Given the description of an element on the screen output the (x, y) to click on. 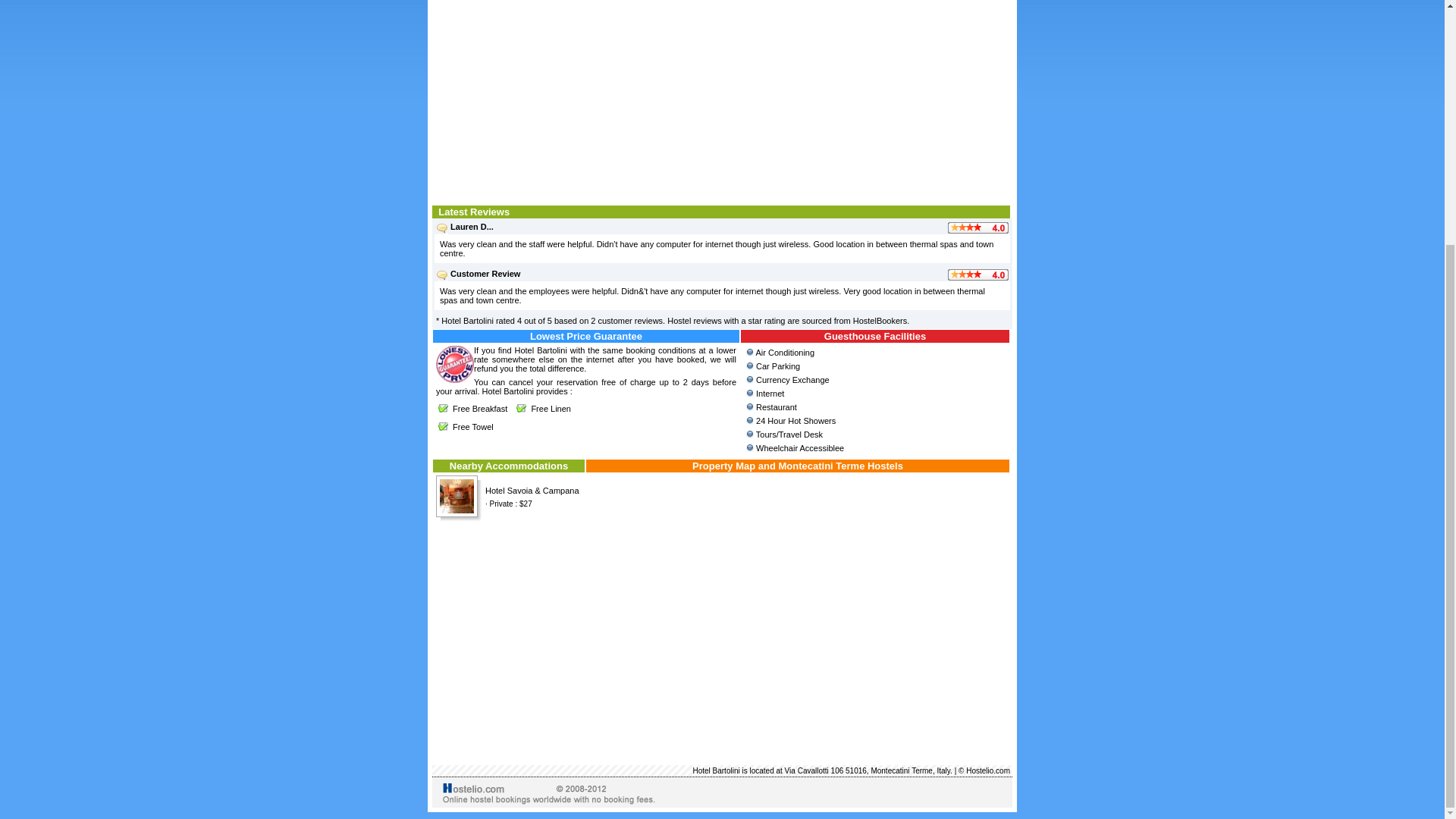
address (721, 770)
Advertisement (721, 98)
